Given the description of an element on the screen output the (x, y) to click on. 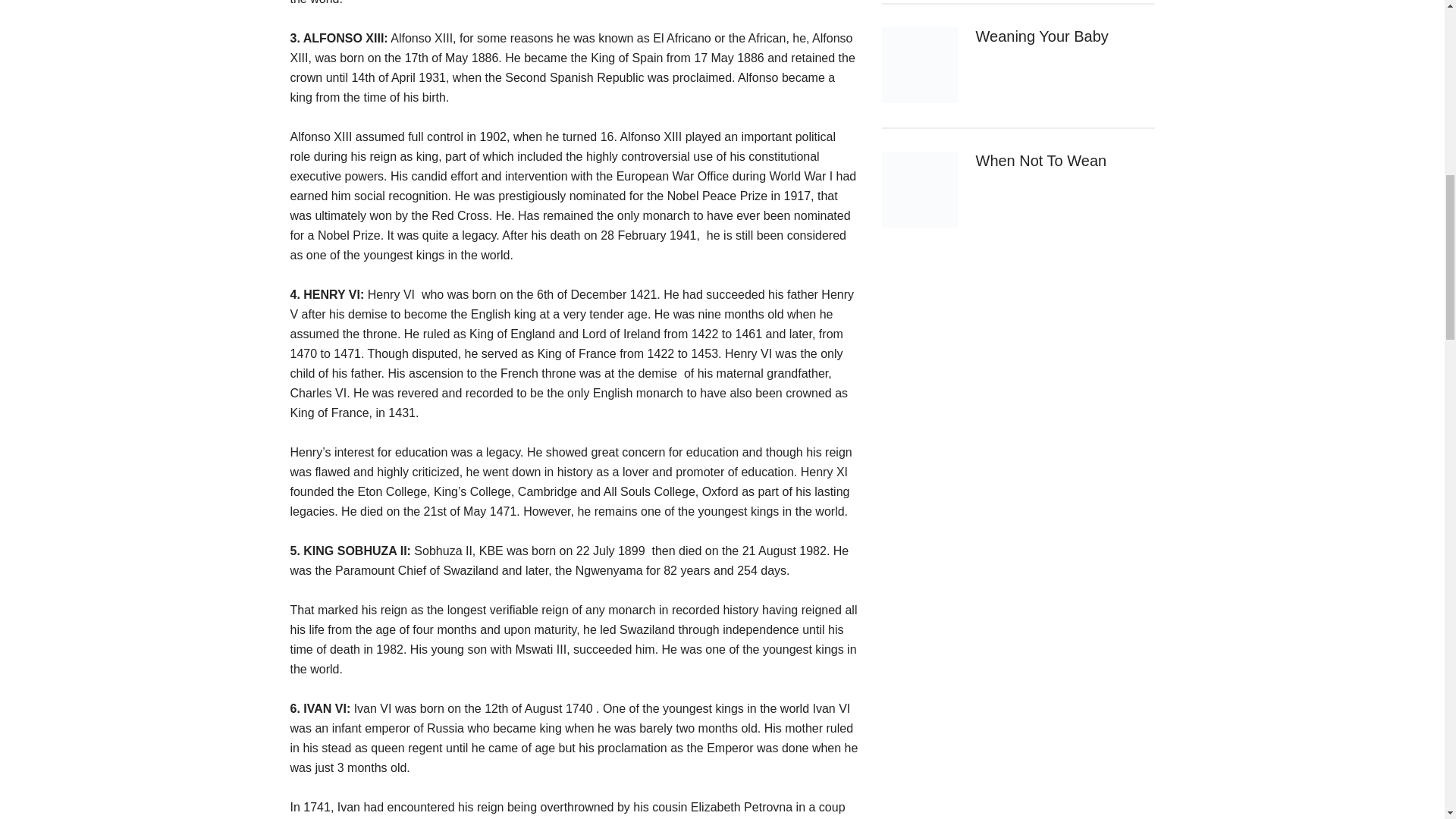
Weaning Your Baby (1041, 36)
